Given the description of an element on the screen output the (x, y) to click on. 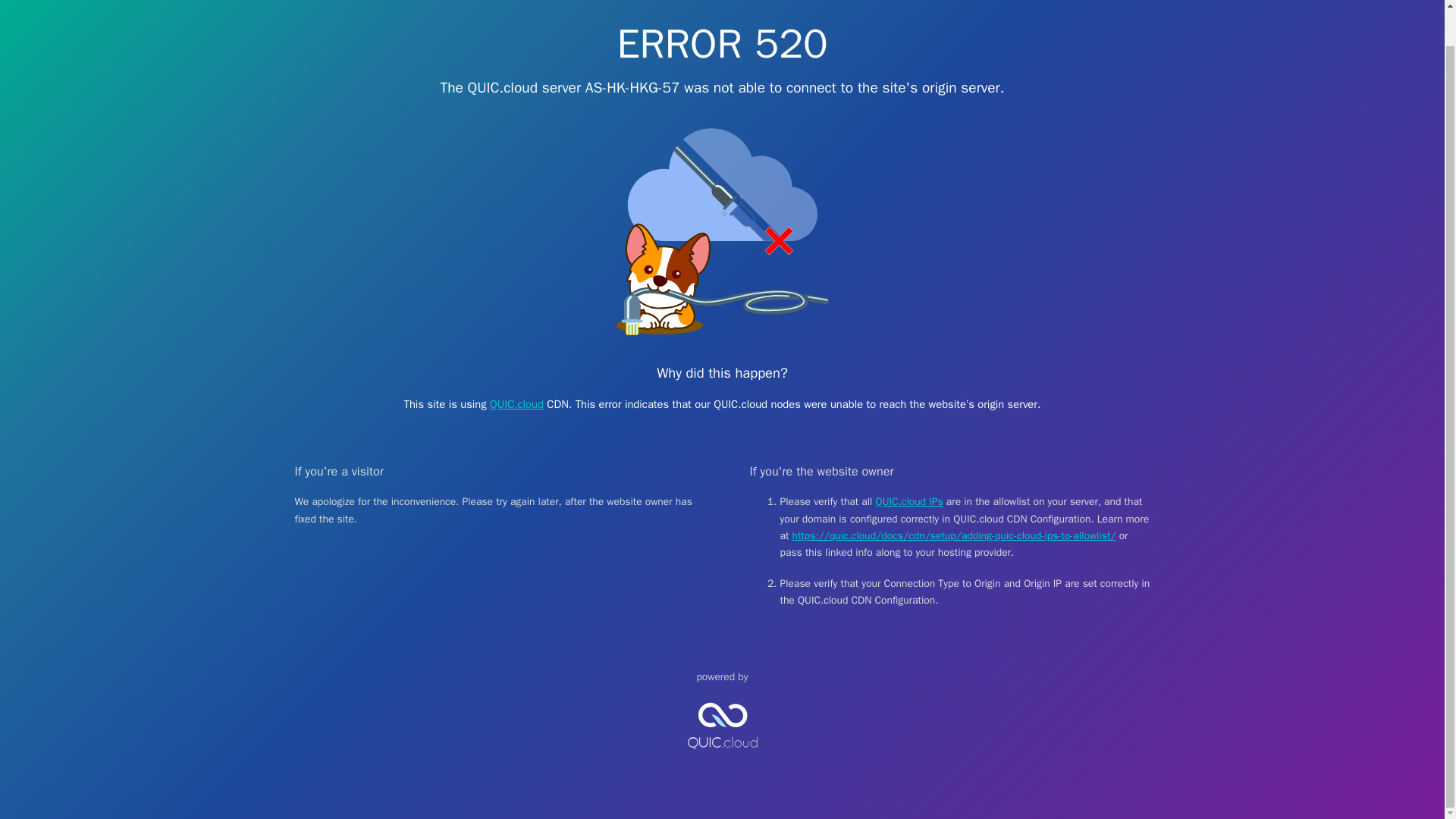
QUIC.cloud (516, 404)
QUIC.cloud (721, 761)
QUIC.cloud IPs (909, 501)
